Given the description of an element on the screen output the (x, y) to click on. 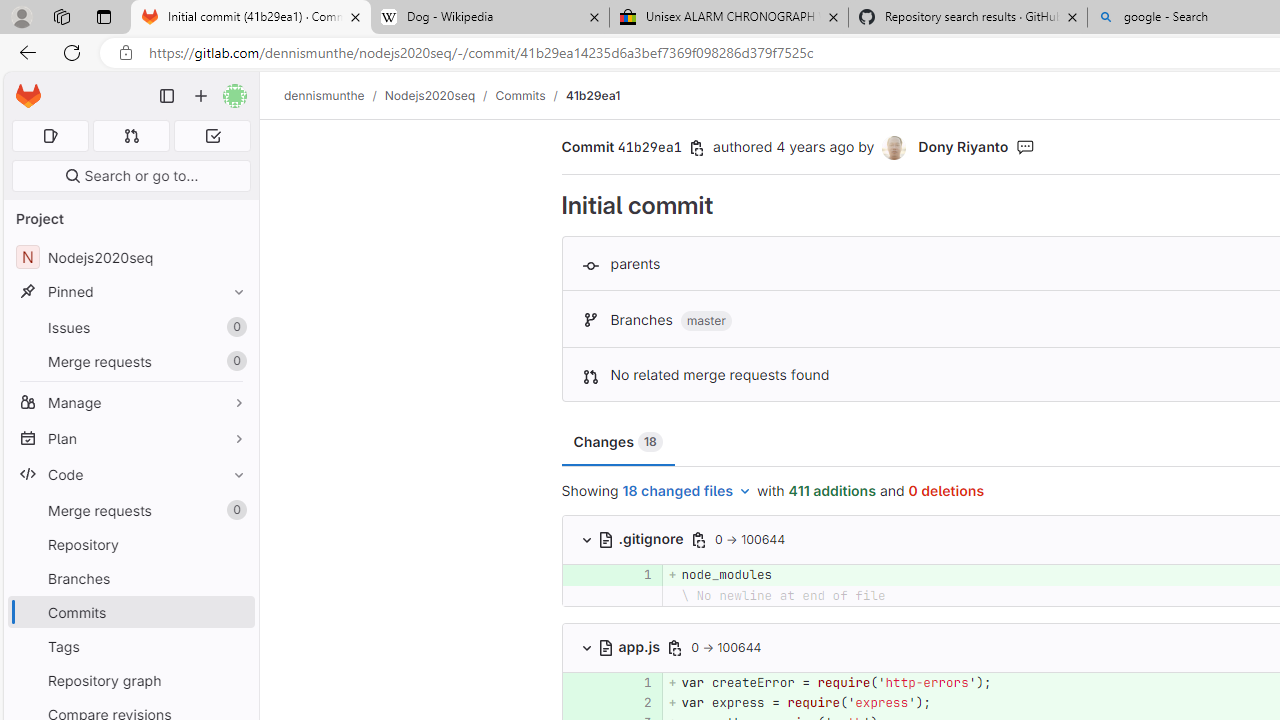
Code (130, 474)
Class: s12 (562, 700)
Branches (130, 578)
2 (633, 701)
Repository graph (130, 679)
Personal Profile (21, 16)
1 (633, 681)
dennismunthe/ (334, 95)
Plan (130, 438)
18 changed files (687, 491)
Dony Riyanto's avatar (894, 148)
Add a comment to this line (562, 701)
Class: s16 gl-icon gl-button-icon  (674, 647)
Merge requests 0 (130, 510)
